Given the description of an element on the screen output the (x, y) to click on. 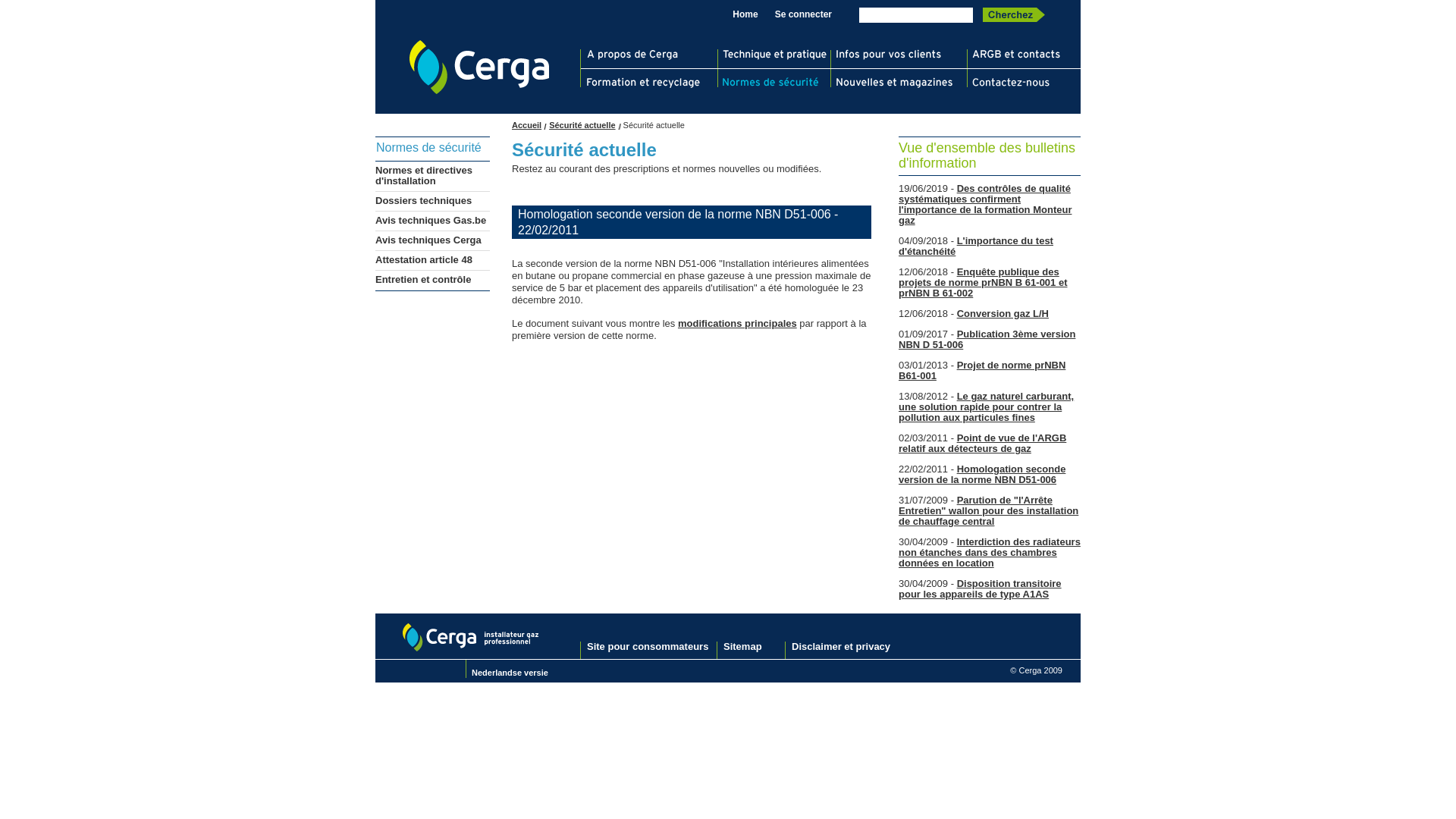
Normes et directives d'installation Element type: text (423, 175)
Dossiers techniques Element type: text (423, 200)
Nederlandse versie Element type: text (509, 672)
Disposition transitoire pour les appareils de type A1AS Element type: text (979, 588)
Nouvelles et magazines Element type: text (900, 82)
Sitemap Element type: text (742, 646)
Attestation article 48 Element type: text (423, 259)
Formation et recyclage Element type: text (650, 82)
Saisissez les termes que vous voulez rechercher. Element type: hover (915, 14)
Disclaimer et privacy Element type: text (840, 646)
Avis techniques Gas.be Element type: text (430, 219)
Home Element type: text (744, 14)
Conversion gaz L/H Element type: text (1002, 313)
Se connecter Element type: text (803, 14)
Accueil Element type: text (528, 124)
modifications principales Element type: text (737, 323)
aardgas-cerga Element type: text (478, 66)
Site pour consommateurs Element type: text (647, 646)
Homologation seconde version de la norme NBN D51-006 Element type: text (981, 474)
KVBG contacten Element type: text (1025, 54)
Technique et pratique Element type: text (775, 54)
Avis techniques Cerga Element type: text (428, 239)
Cerga professionele qasinstallateur Element type: text (470, 637)
Contactez-nous Element type: text (1025, 82)
Projet de norme prNBN B61-001 Element type: text (981, 370)
informations pour vos clients Element type: text (900, 54)
Over Cerga Element type: text (650, 54)
